Given the description of an element on the screen output the (x, y) to click on. 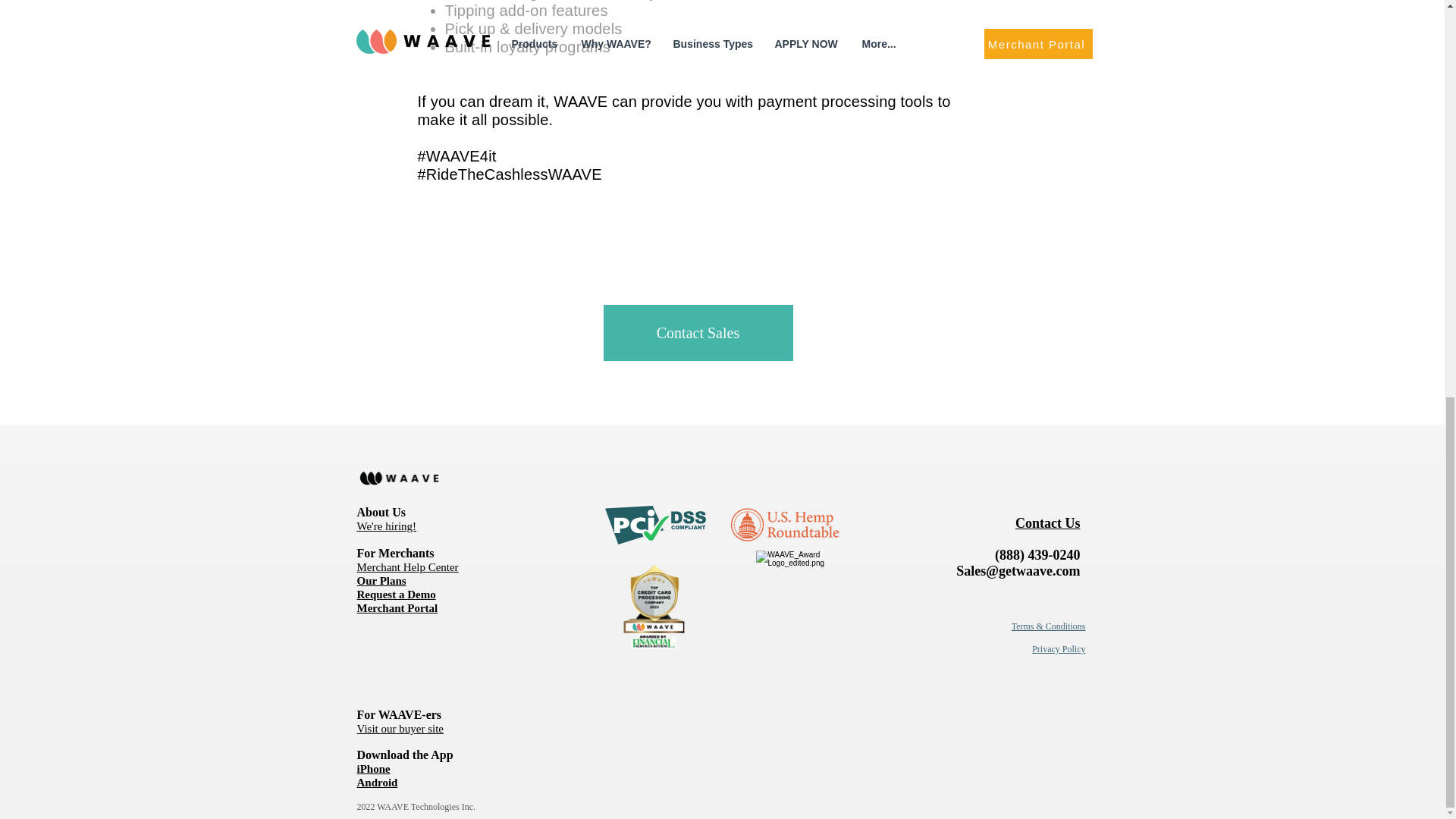
Visit our buyer site (400, 727)
We're hiring! (386, 525)
Contact Sales (698, 332)
Merchant Portal (397, 607)
Merchant Help Center (407, 566)
Android (376, 781)
Request a Demo (395, 594)
iPhone (373, 768)
Our Plans (381, 580)
Privacy Policy (1058, 648)
